Given the description of an element on the screen output the (x, y) to click on. 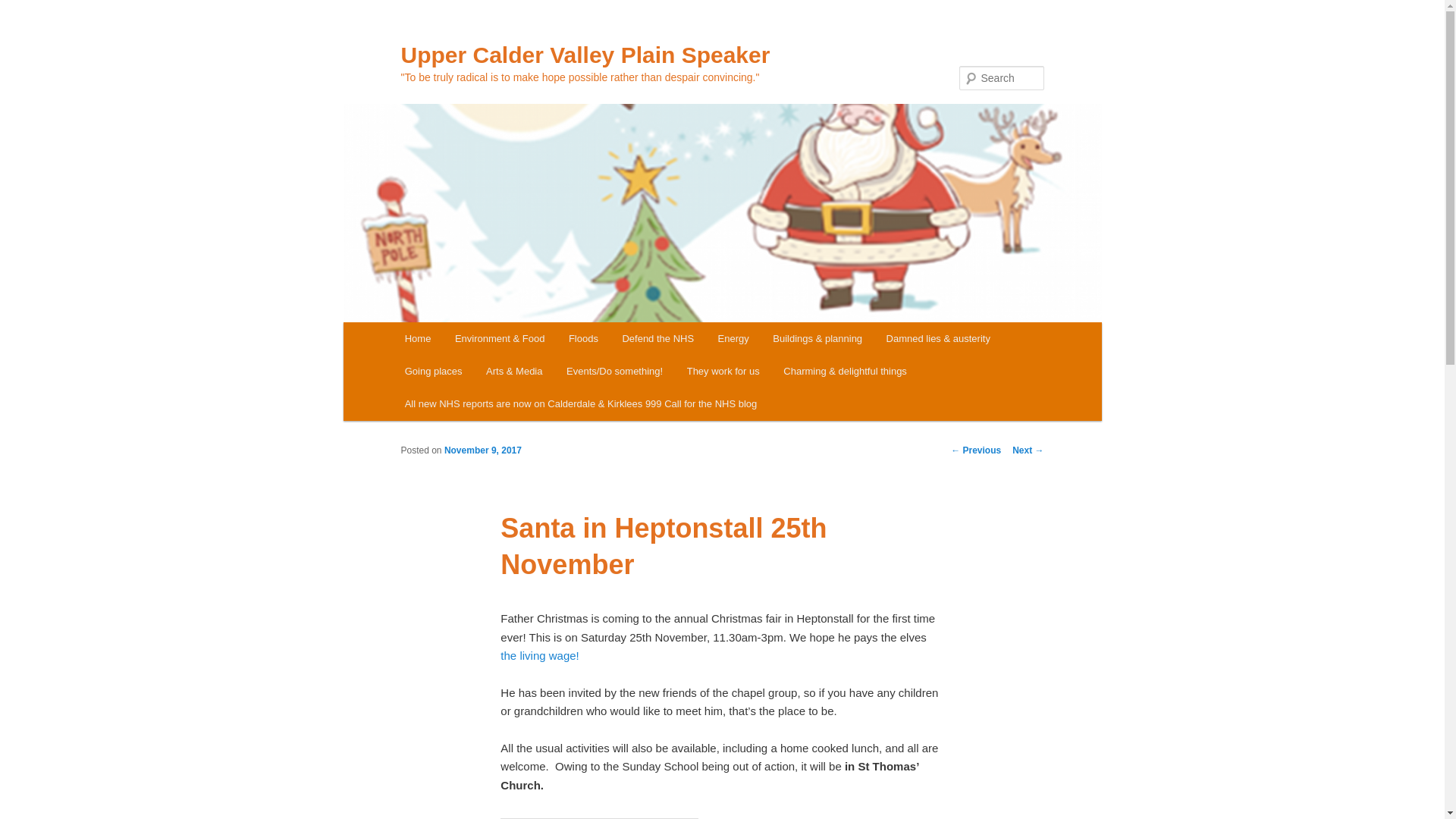
They work for us (723, 370)
Upper Calder Valley Plain Speaker (585, 54)
Home (417, 338)
Floods (583, 338)
November 9, 2017 (482, 450)
Energy (733, 338)
Defend the NHS (658, 338)
12:22 pm (482, 450)
Search (24, 8)
the living wage! (539, 655)
